Given the description of an element on the screen output the (x, y) to click on. 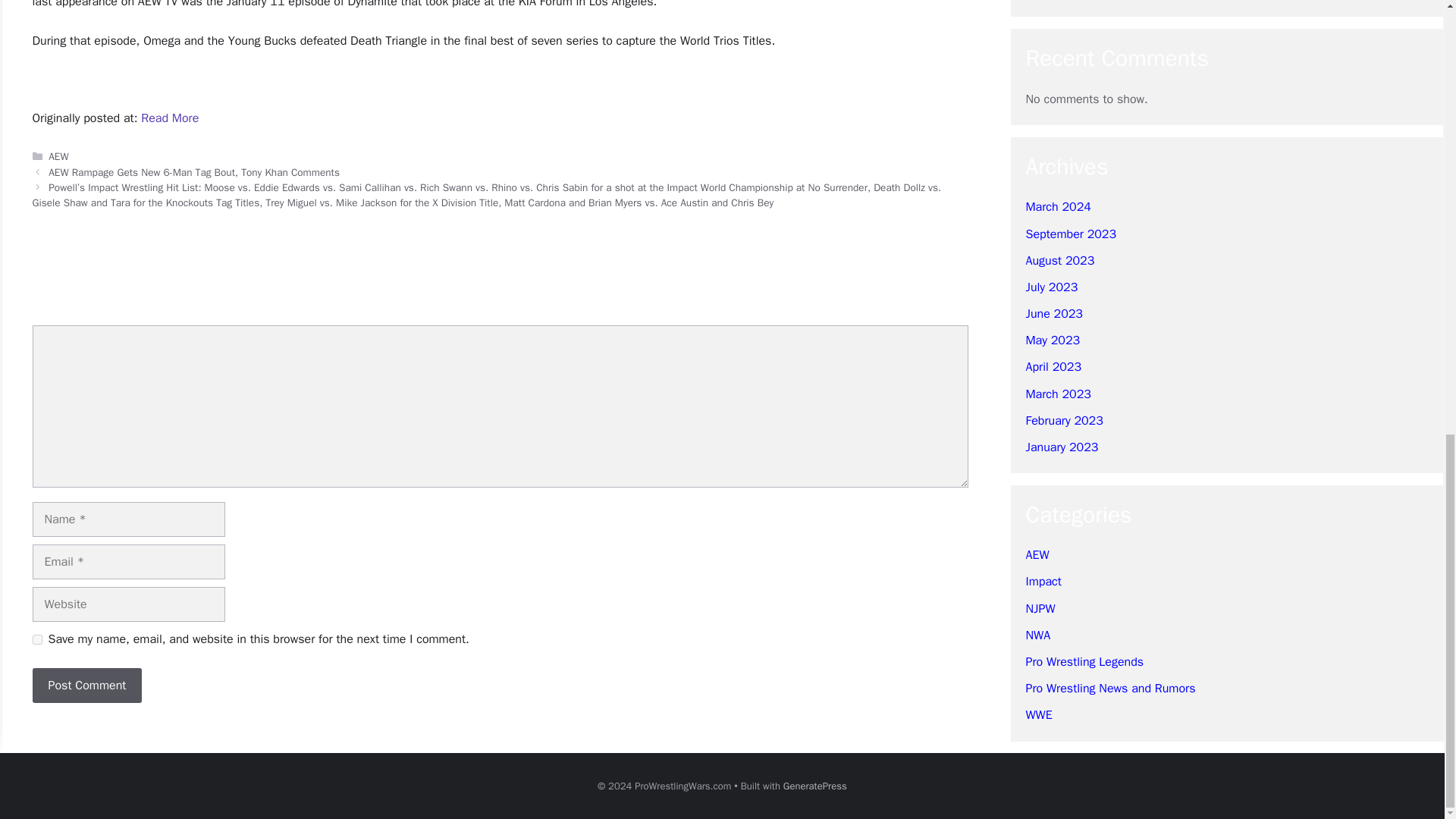
Post Comment (86, 685)
NJPW (1039, 158)
Scroll back to top (1406, 609)
January 2023 (1061, 2)
WWE (1038, 264)
GeneratePress (815, 785)
Post Comment (86, 685)
Pro Wrestling News and Rumors (1110, 237)
AEW (1036, 104)
NWA (1037, 184)
AEW Rampage Gets New 6-Man Tag Bout, Tony Khan Comments (193, 172)
Read More (169, 118)
AEW (58, 155)
Impact (1043, 130)
yes (37, 639)
